Given the description of an element on the screen output the (x, y) to click on. 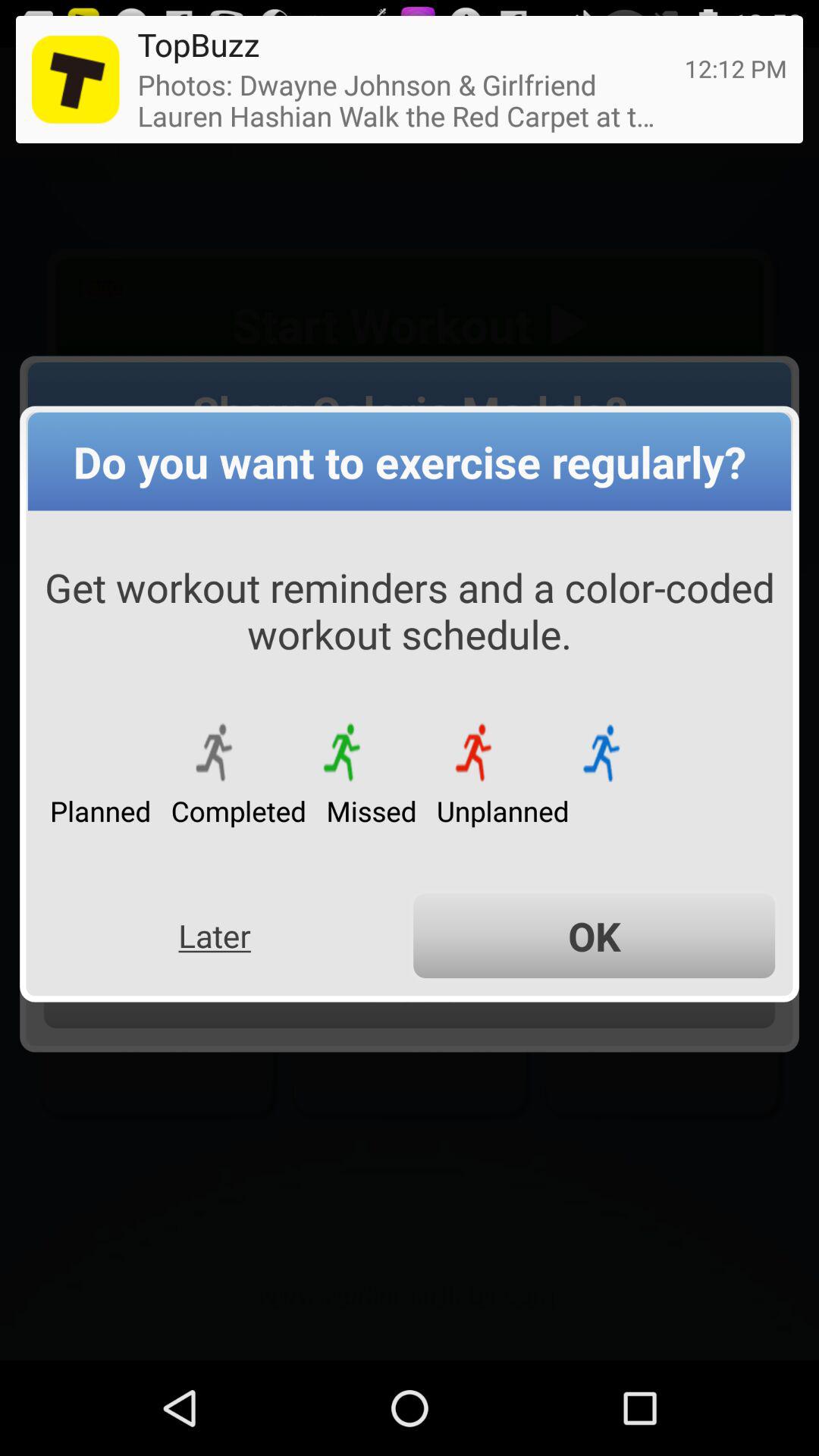
turn off the later icon (214, 935)
